Given the description of an element on the screen output the (x, y) to click on. 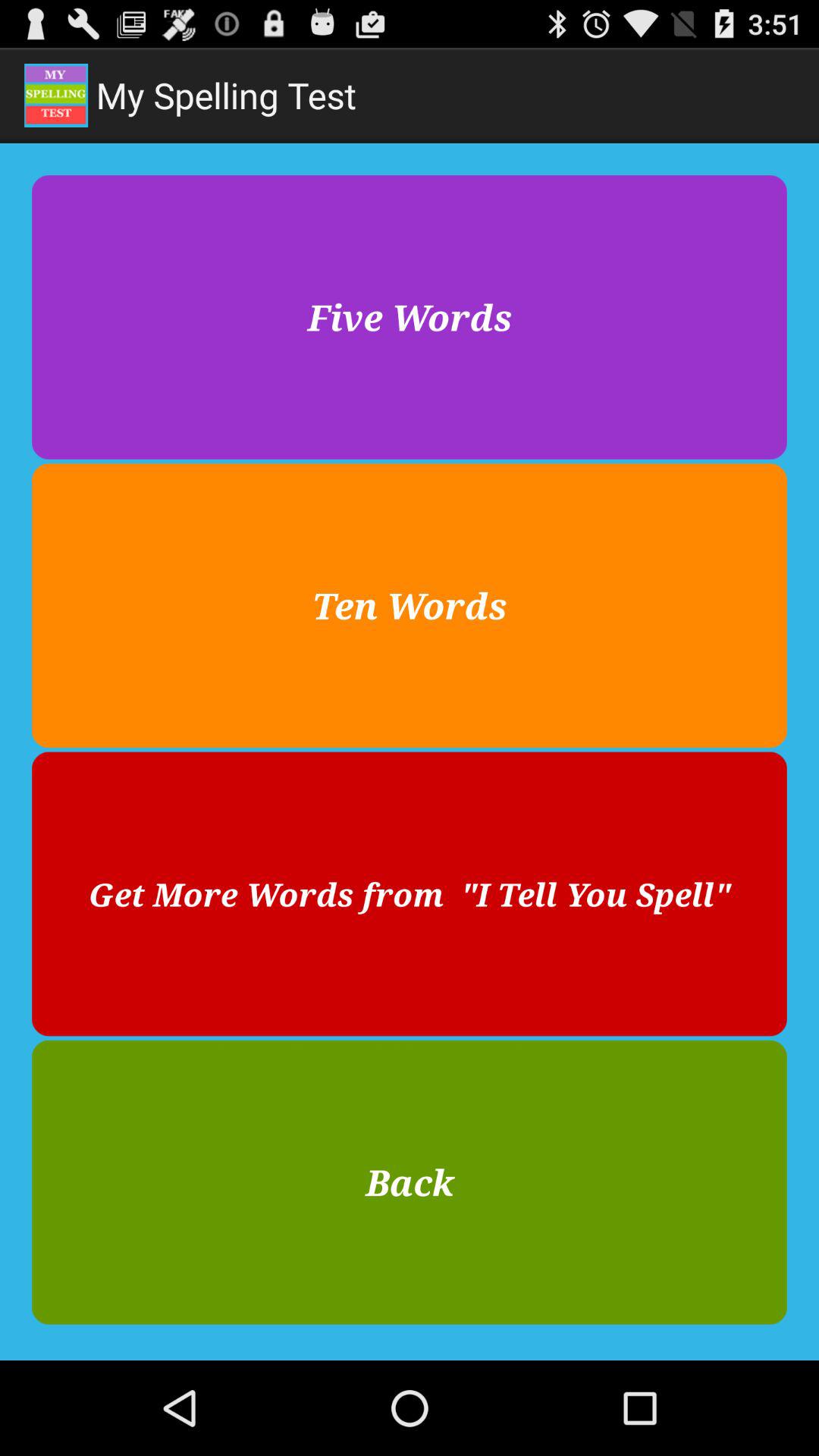
select back item (409, 1182)
